Given the description of an element on the screen output the (x, y) to click on. 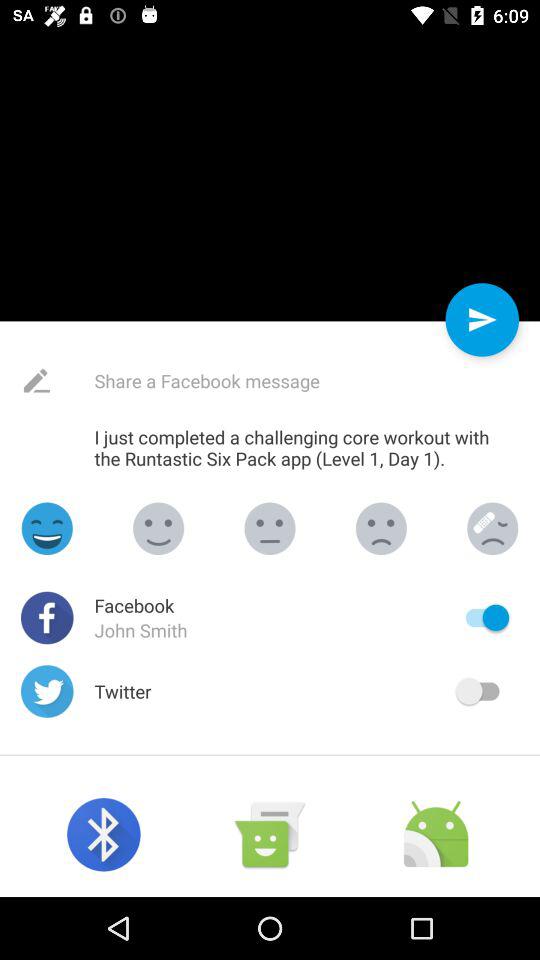
rate your happiness (381, 528)
